Given the description of an element on the screen output the (x, y) to click on. 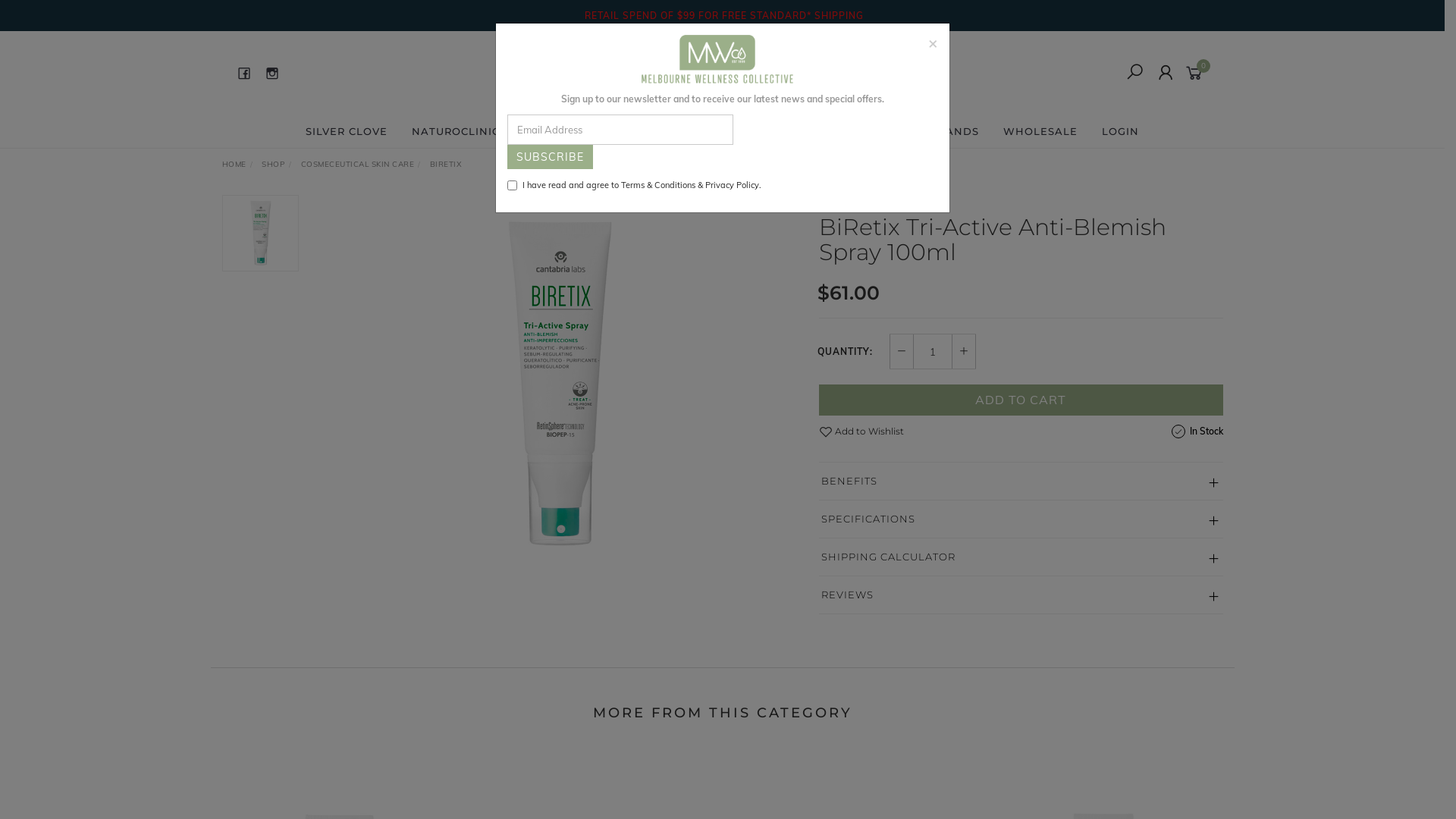
NATUROCLINICA Element type: text (459, 130)
Melbourne Wellness Collective Element type: hover (720, 71)
BENEFITS Element type: text (1021, 480)
TIMELESS TRUTH MASKS Element type: text (771, 130)
COSMECEUTICAL SKIN CARE Element type: text (357, 164)
HOME Element type: text (233, 164)
WHOLESALE Element type: text (1040, 130)
Terms & Conditions Element type: text (657, 184)
SHOP Element type: text (273, 164)
Add to Wishlist Element type: text (861, 430)
RETAIL SPEND OF $99 FOR FREE STANDARD* SHIPPING Element type: text (721, 15)
BIRETIX Element type: text (445, 164)
Large View Element type: hover (558, 384)
REVIEWS Element type: text (1021, 594)
ADD TO CART Element type: text (1021, 399)
BIRETIX Element type: text (839, 202)
LOGIN Element type: text (1120, 130)
0 Element type: text (1196, 71)
Subscribe Element type: text (549, 156)
SILVER CLOVE Element type: text (346, 130)
SHIPPING CALCULATOR Element type: text (1021, 556)
MELBOURNE AROMA CO. Element type: text (604, 130)
SHOP ALL BRANDS Element type: text (922, 130)
Privacy Policy Element type: text (732, 184)
SPECIFICATIONS Element type: text (1021, 518)
